Given the description of an element on the screen output the (x, y) to click on. 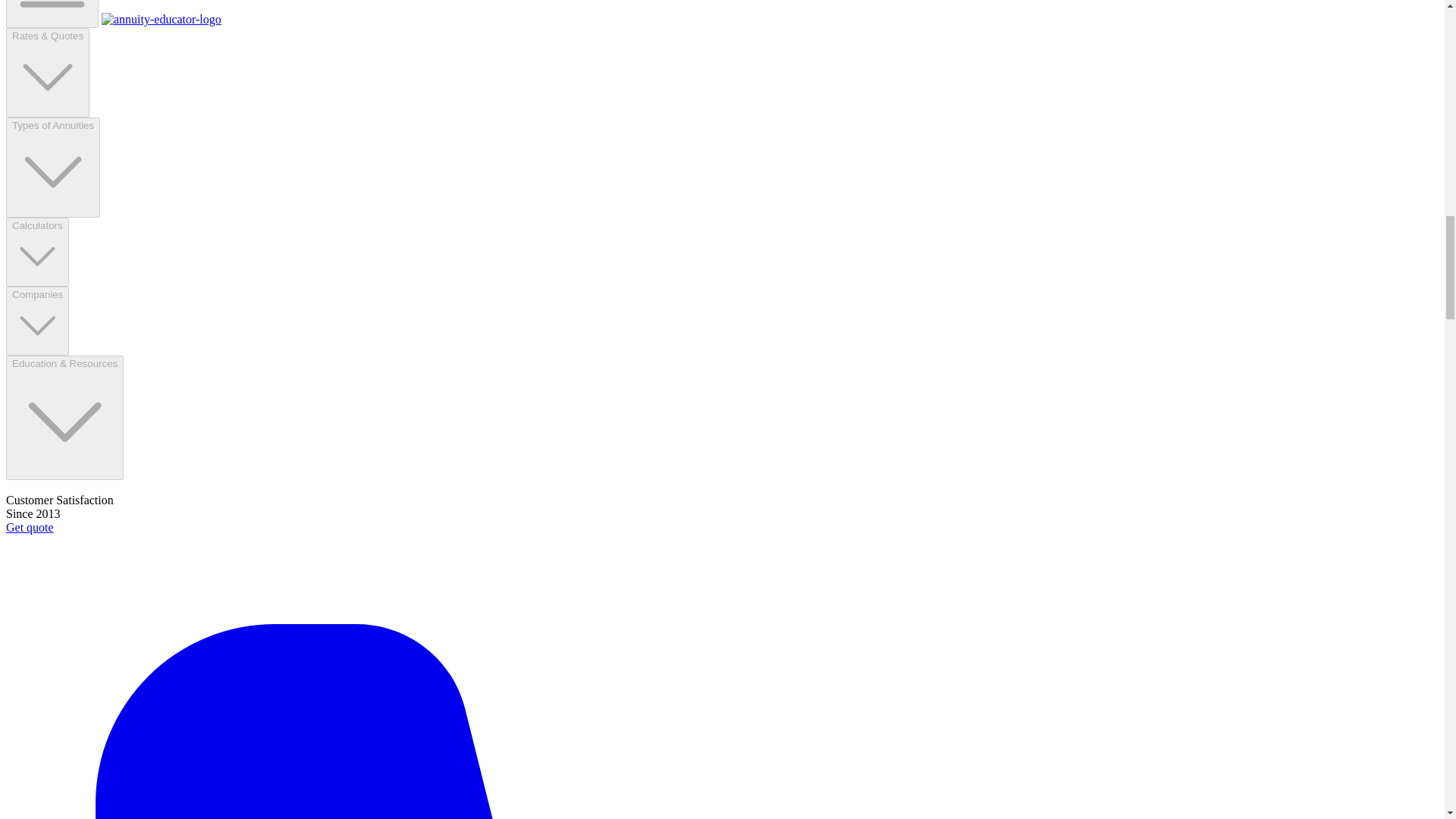
Types of Annuities (52, 167)
Companies (36, 320)
Calculators (36, 251)
Get quote (29, 526)
Open main menu (52, 13)
